Given the description of an element on the screen output the (x, y) to click on. 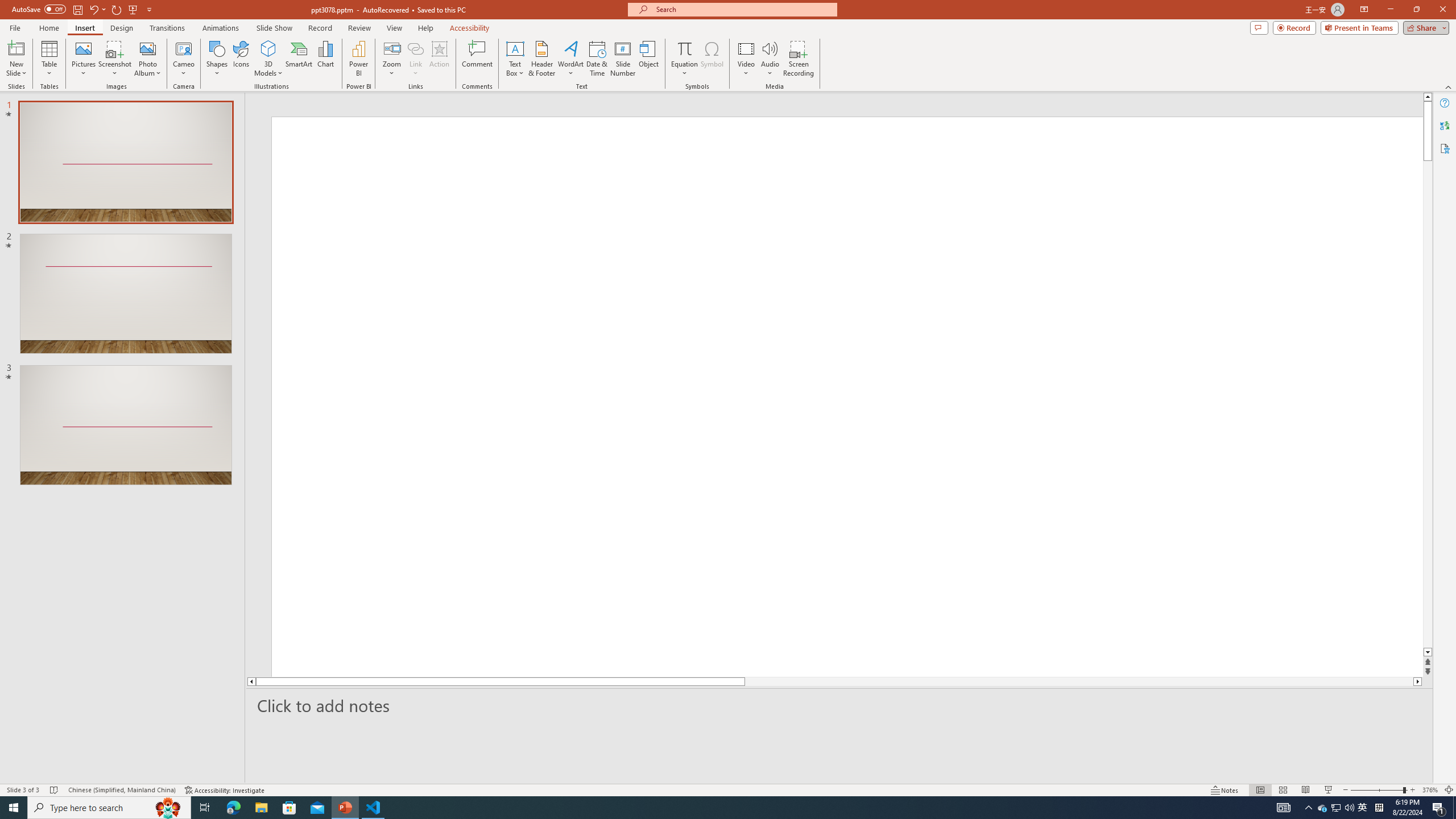
Zoom 376% (1430, 790)
Equation (683, 58)
Screen Recording... (798, 58)
